Given the description of an element on the screen output the (x, y) to click on. 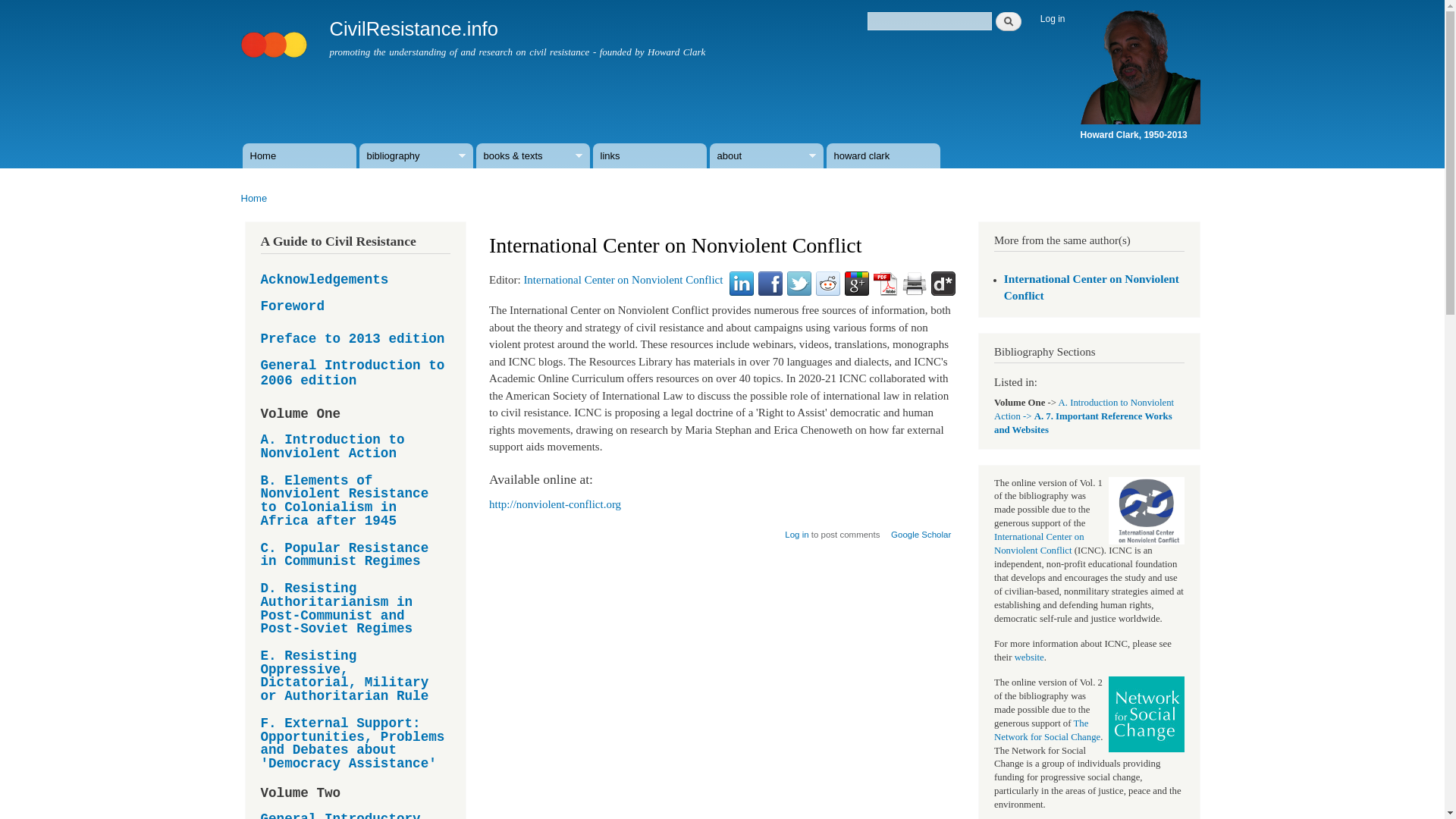
Search (1008, 21)
Search (1008, 21)
A. Introduction to Nonviolent Action (355, 447)
Home (275, 37)
Click to search Google Scholar for this entry (920, 529)
Home (299, 155)
Log in (1053, 18)
Howard Clark, 1950-2013 (1139, 128)
General Introduction to 2006 edition (355, 372)
Log in (796, 529)
Google Scholar (920, 529)
About CivilResistance.info (767, 155)
Home (413, 28)
Foreword (292, 306)
Preface to 2013 edition (352, 339)
